Given the description of an element on the screen output the (x, y) to click on. 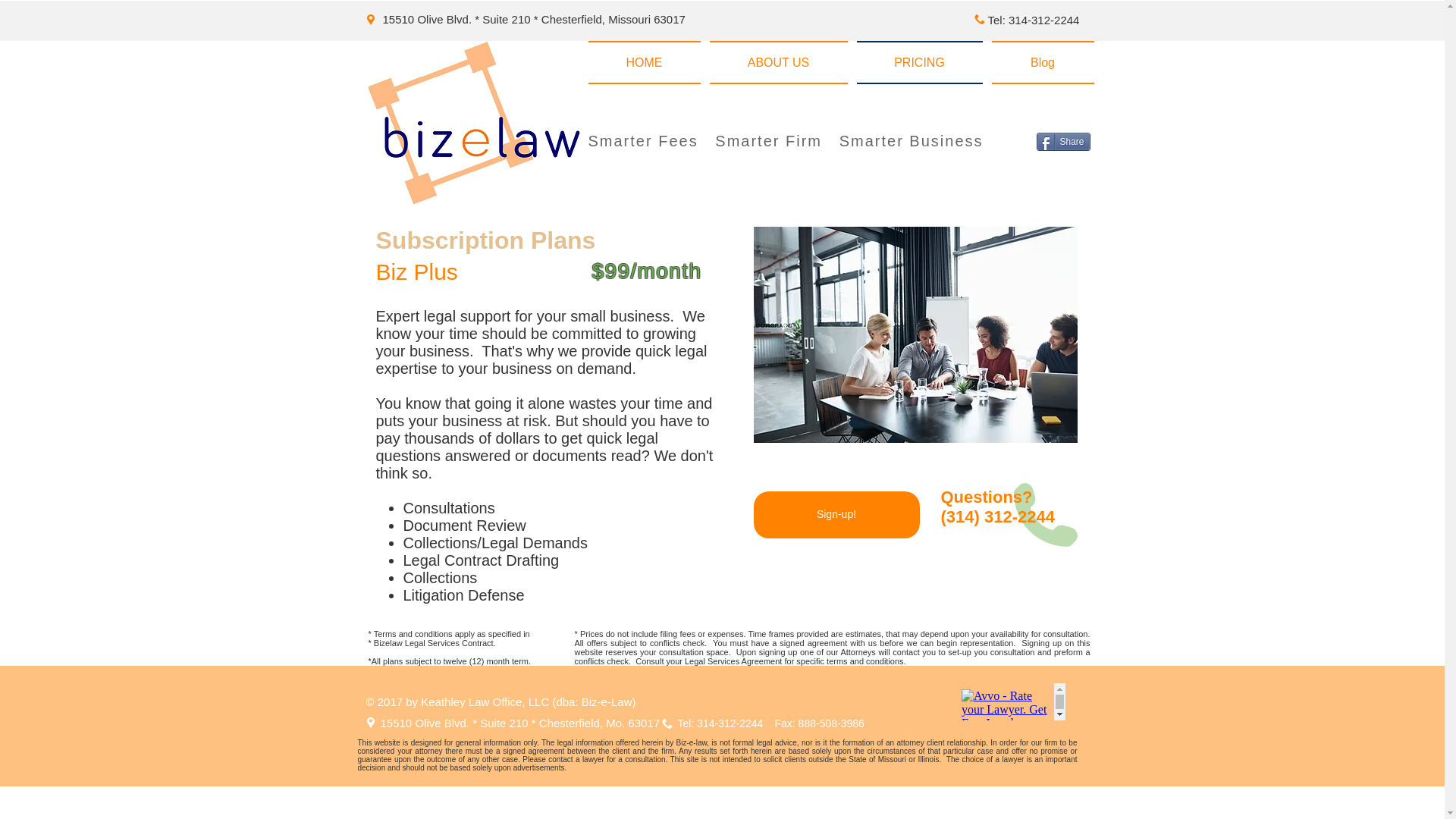
PRICING (919, 62)
HOME (646, 62)
Sign-up! (837, 514)
Smarter Fees (643, 140)
Share (1062, 141)
Embedded Content (1010, 701)
Share (1062, 141)
Blog (1040, 62)
Smarter Business (912, 140)
Smarter Firm (768, 140)
